Given the description of an element on the screen output the (x, y) to click on. 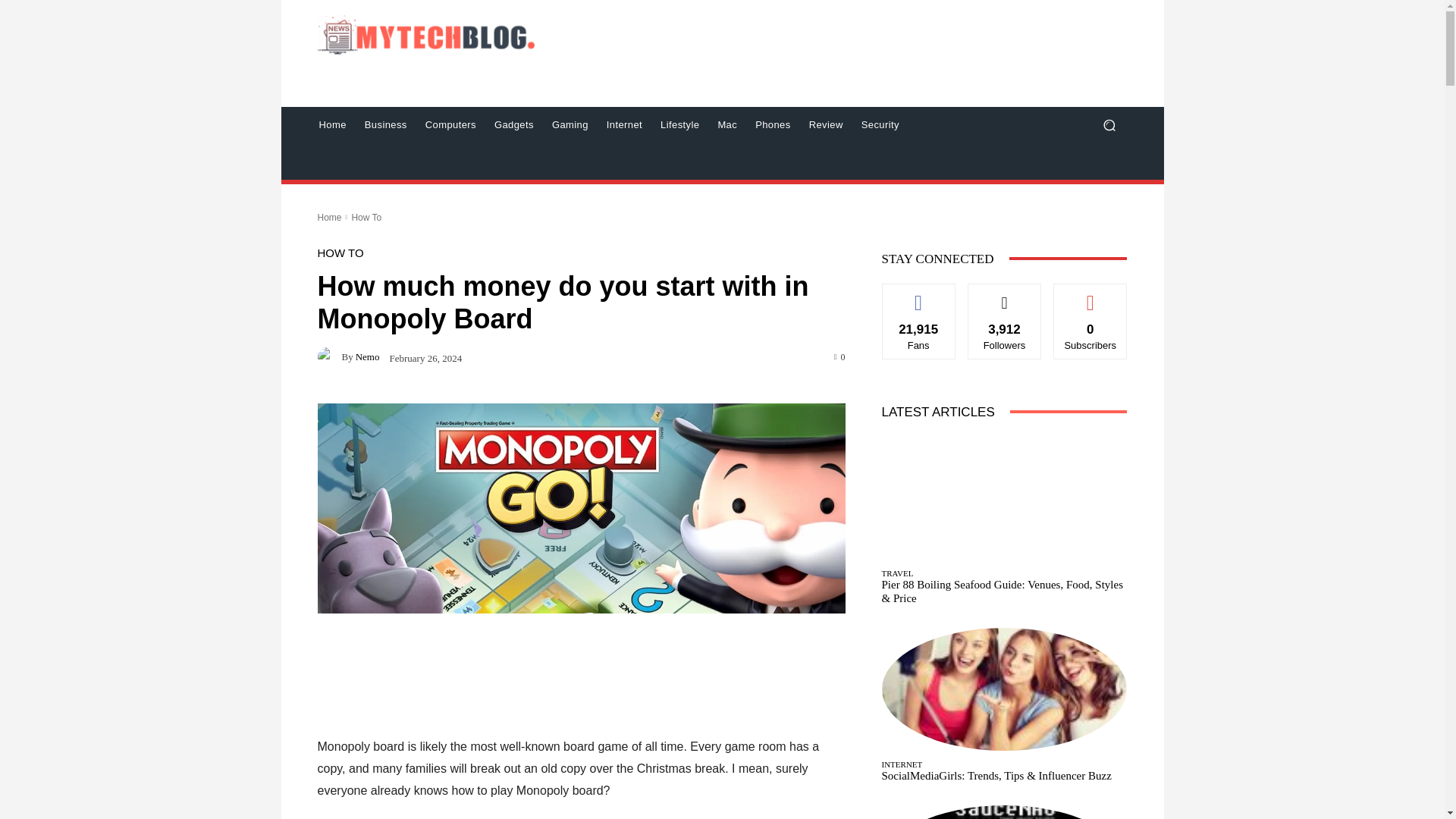
How To (365, 217)
Mac (726, 125)
0 (839, 356)
Business (385, 125)
Home (331, 125)
Gadgets (513, 125)
Home (328, 217)
Review (825, 125)
Gaming (569, 125)
HOW TO (339, 252)
Security (879, 125)
Lifestyle (678, 125)
Phones (772, 125)
Internet (623, 125)
